Given the description of an element on the screen output the (x, y) to click on. 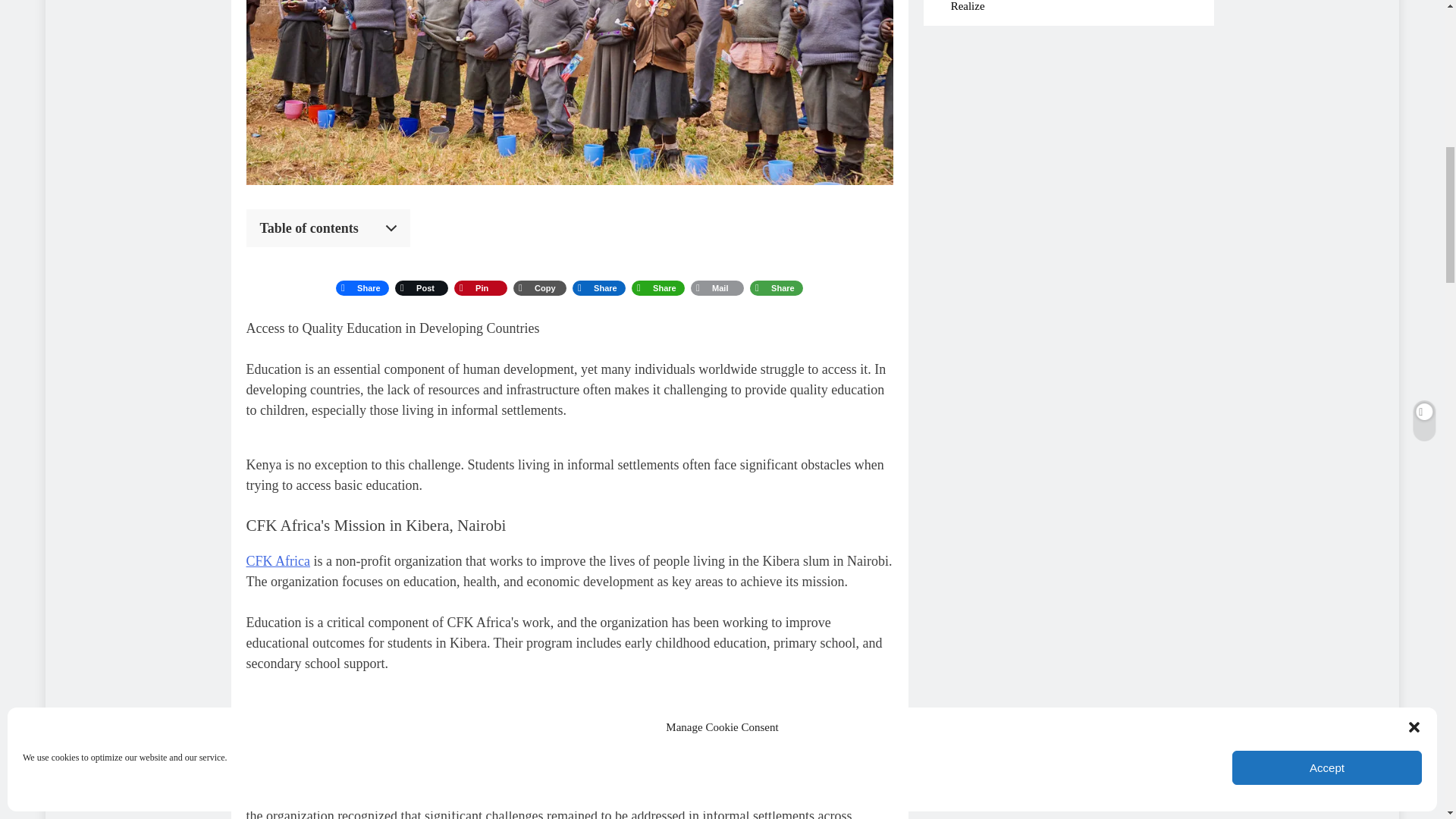
Facebook (362, 287)
